Given the description of an element on the screen output the (x, y) to click on. 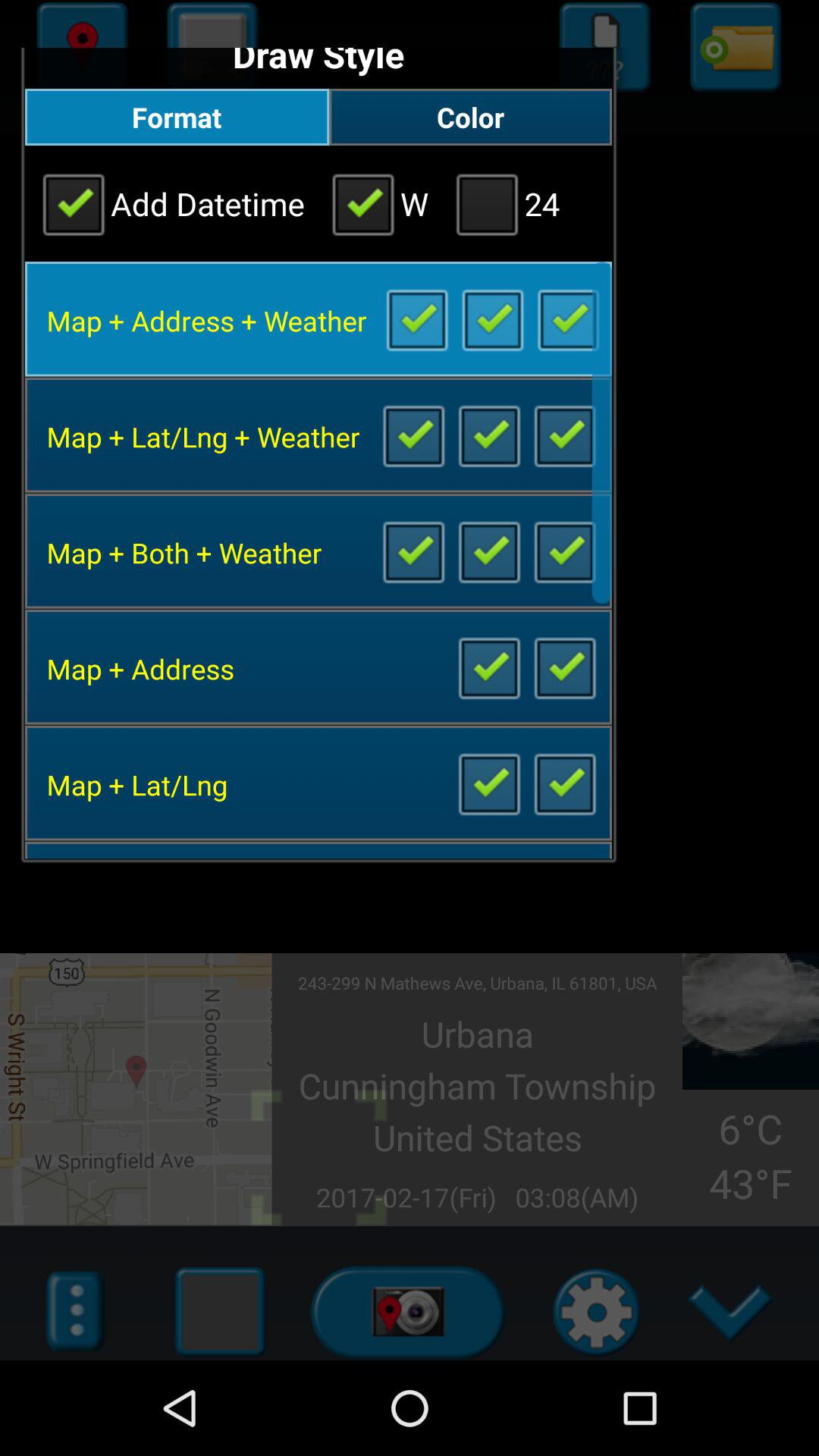
uncheck option (564, 782)
